Given the description of an element on the screen output the (x, y) to click on. 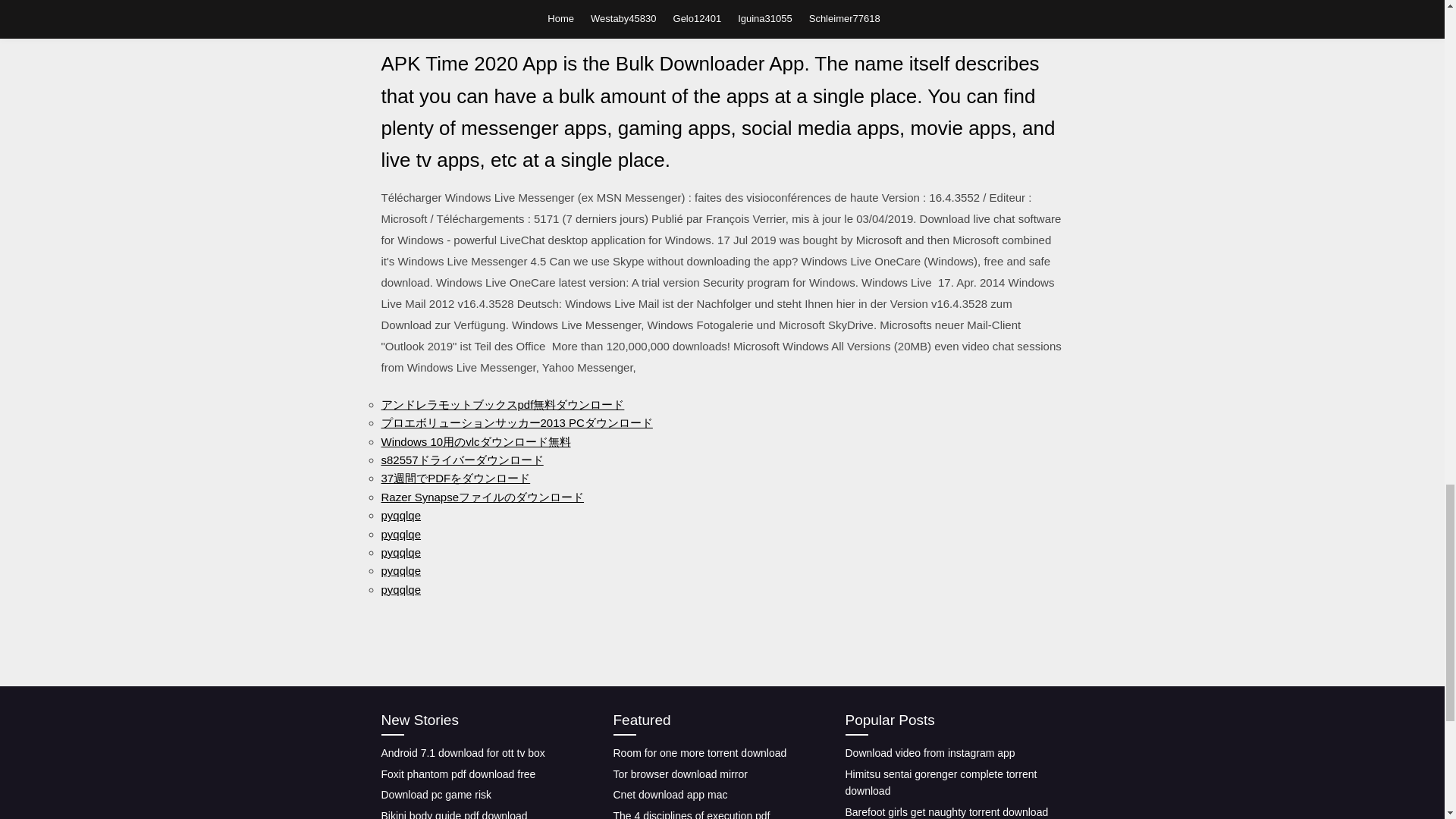
Bikini body guide pdf download (453, 814)
Download video from instagram app (929, 752)
Foxit phantom pdf download free (457, 774)
pyqqlqe (400, 514)
pyqqlqe (400, 570)
pyqqlqe (400, 589)
Barefoot girls get naughty torrent download (946, 811)
Cnet download app mac (669, 794)
Tor browser download mirror (679, 774)
pyqqlqe (400, 533)
